Given the description of an element on the screen output the (x, y) to click on. 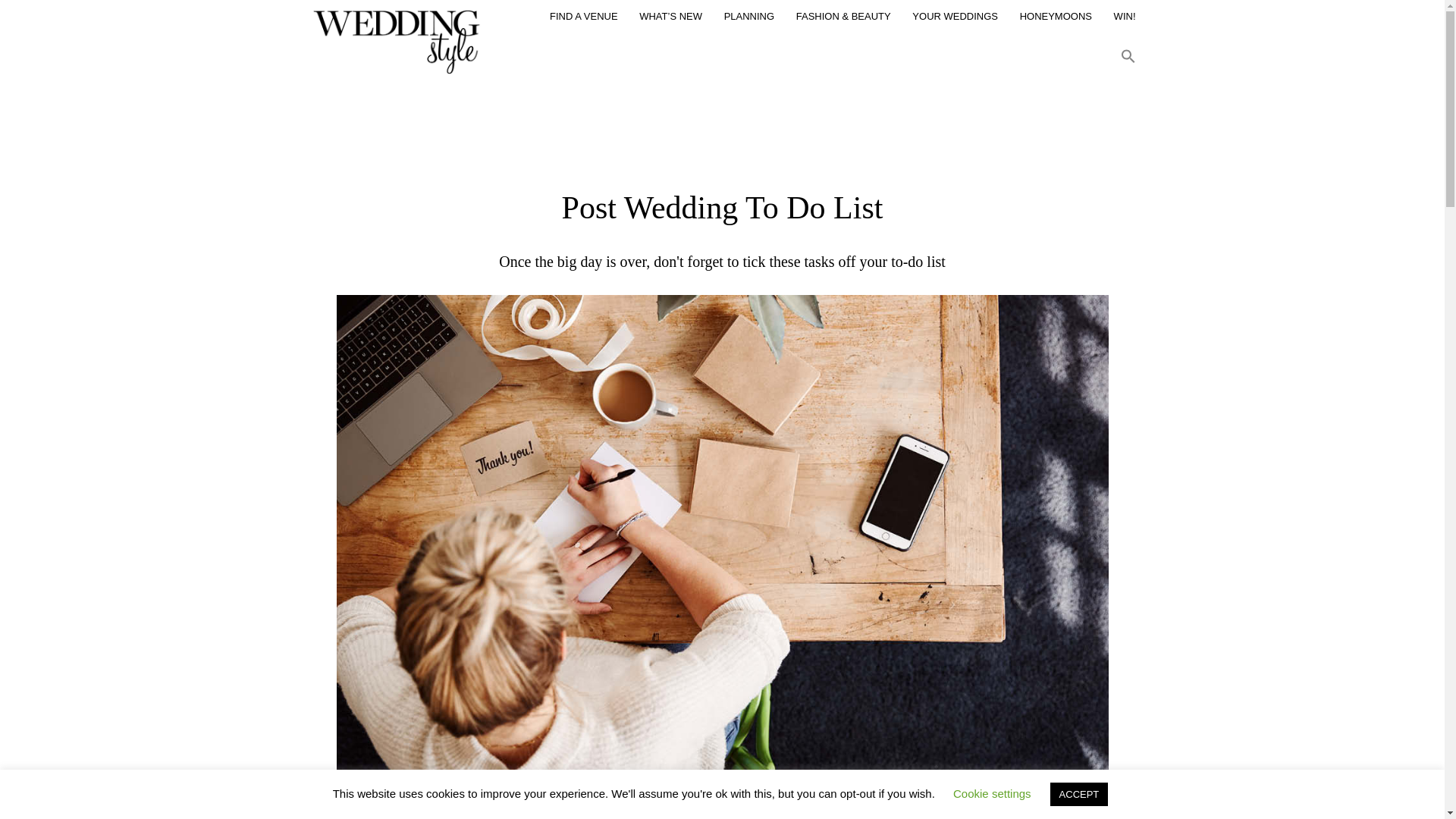
FIND A VENUE (583, 19)
PLANNING (748, 19)
YOUR WEDDINGS (954, 19)
HONEYMOONS (1056, 19)
